Given the description of an element on the screen output the (x, y) to click on. 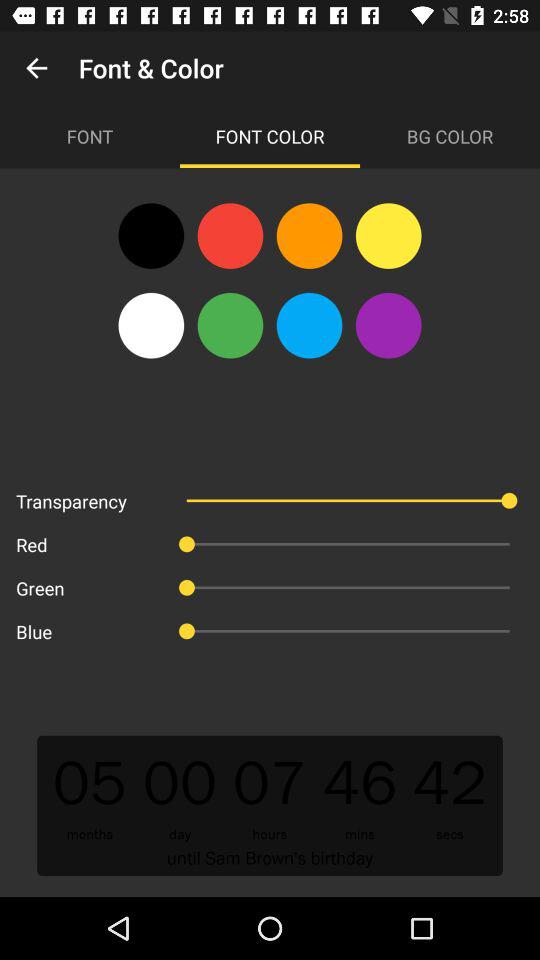
choose item above the font item (36, 68)
